Given the description of an element on the screen output the (x, y) to click on. 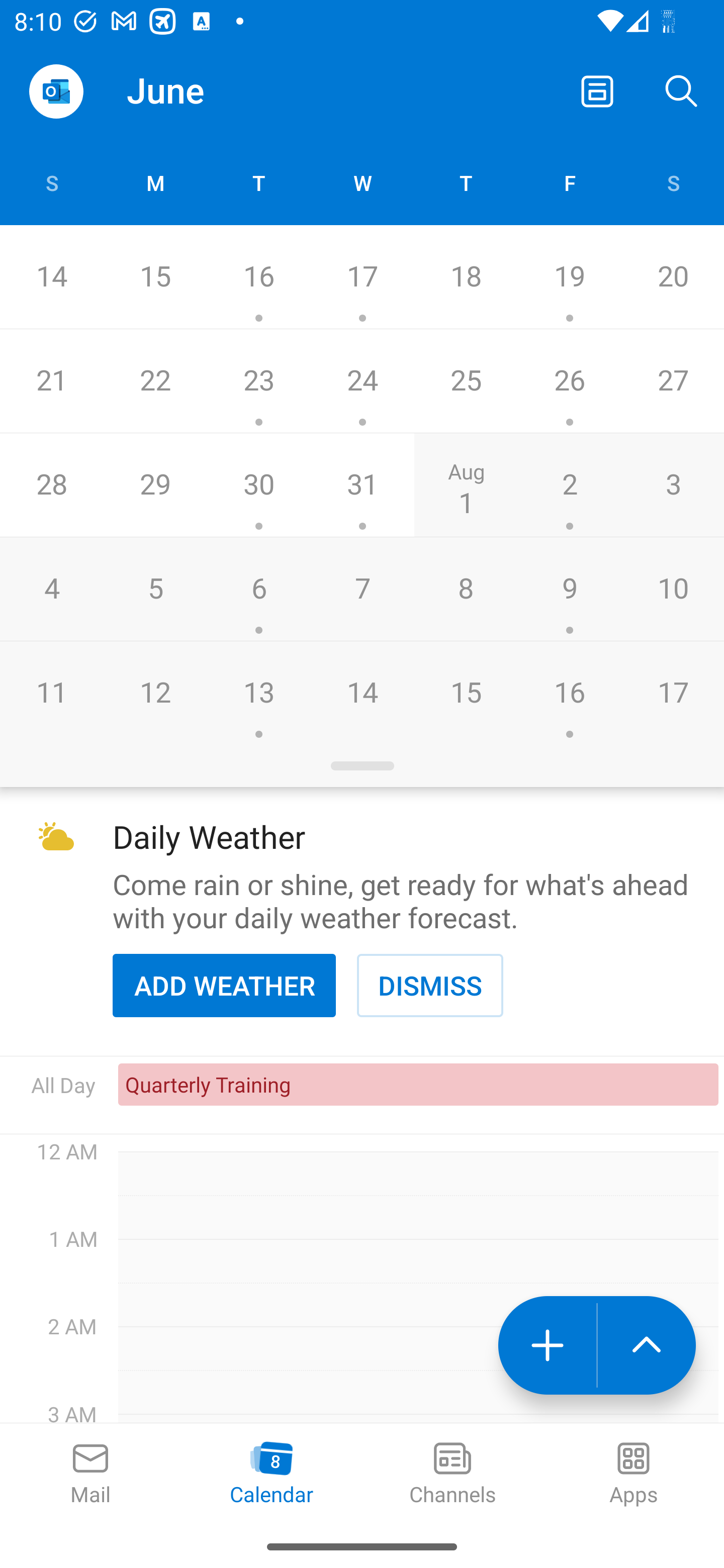
June June 2024, day picker (203, 90)
Switch away from Day view (597, 90)
Search, ,  (681, 90)
Open Navigation Drawer (55, 91)
14 Sunday, July 14 (51, 277)
15 Monday, July 15 (155, 277)
16 Events on Tuesday, July 16 (258, 277)
17 Events on Wednesday, July 17 (362, 277)
18 Thursday, July 18 (465, 277)
19 Events on Friday, July 19 (569, 277)
20 Saturday, July 20 (672, 277)
21 Sunday, July 21 (51, 380)
22 Monday, July 22 (155, 380)
23 Events on Tuesday, July 23 (258, 380)
24 Events on Wednesday, July 24 (362, 380)
25 Thursday, July 25 (465, 380)
26 Events on Friday, July 26 (569, 380)
27 Saturday, July 27 (672, 380)
28 Sunday, July 28 (51, 484)
29 Monday, July 29 (155, 484)
